Given the description of an element on the screen output the (x, y) to click on. 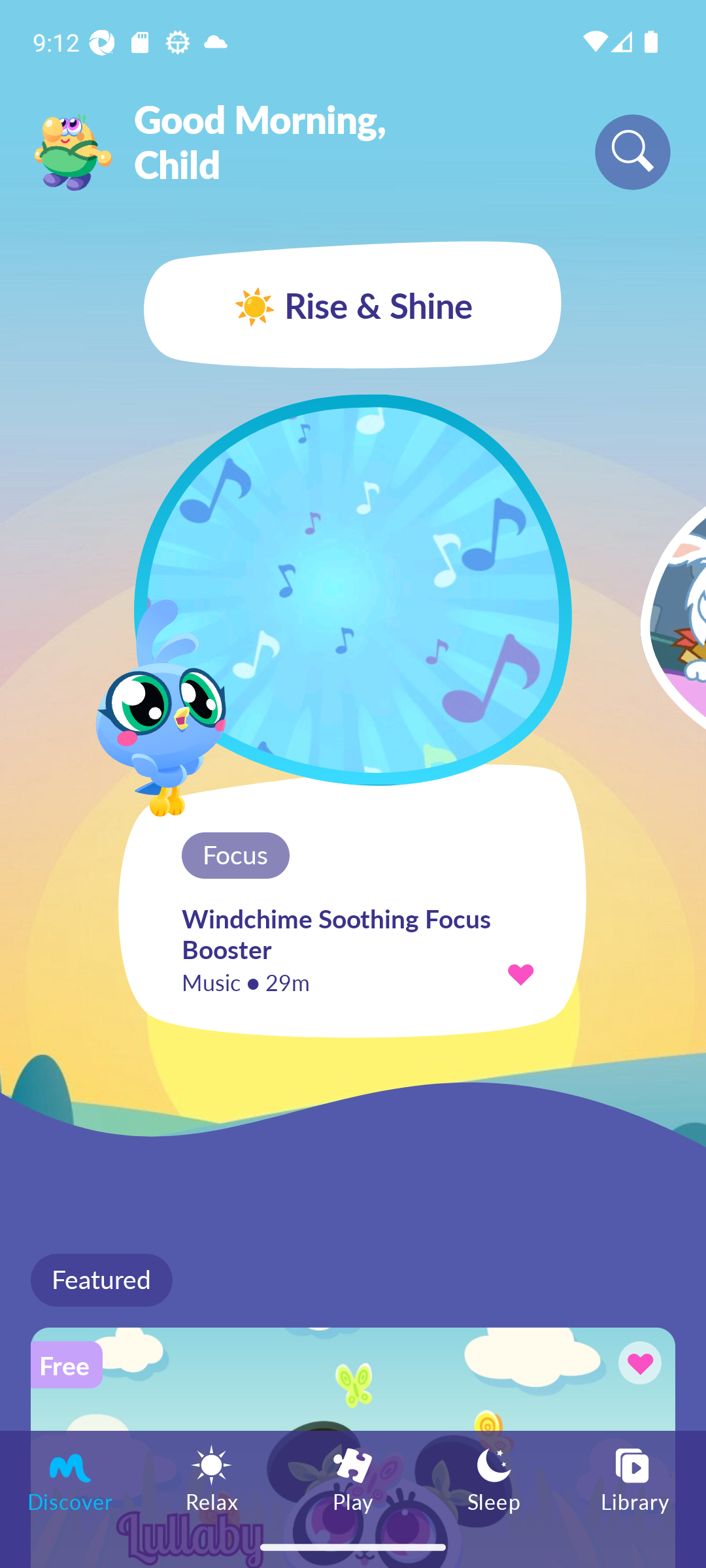
Search (632, 151)
action (520, 973)
Button (636, 1365)
Relax (211, 1478)
Play (352, 1478)
Sleep (493, 1478)
Library (635, 1478)
